Given the description of an element on the screen output the (x, y) to click on. 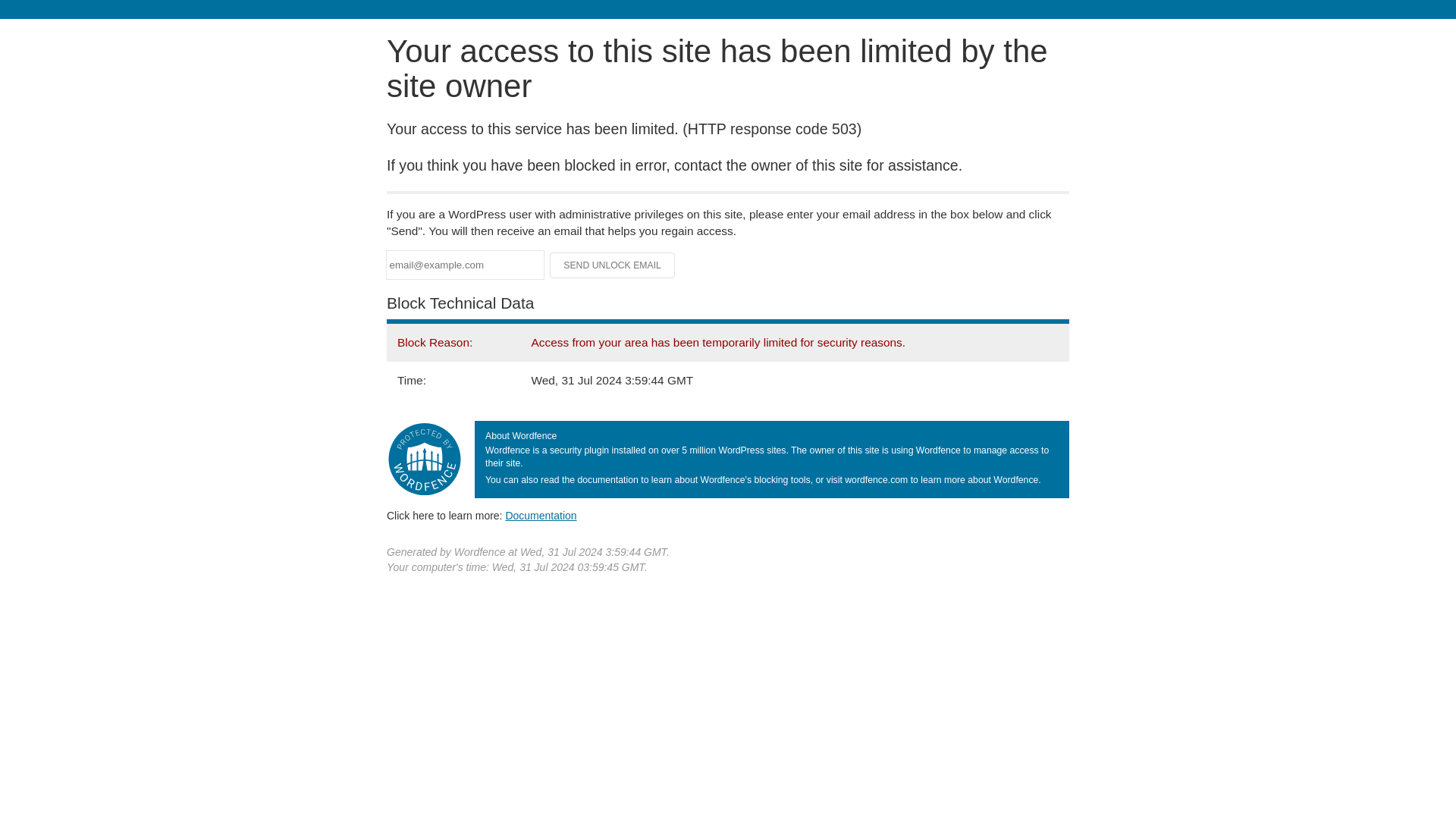
Send Unlock Email (612, 265)
Send Unlock Email (612, 265)
Documentation (540, 515)
